Given the description of an element on the screen output the (x, y) to click on. 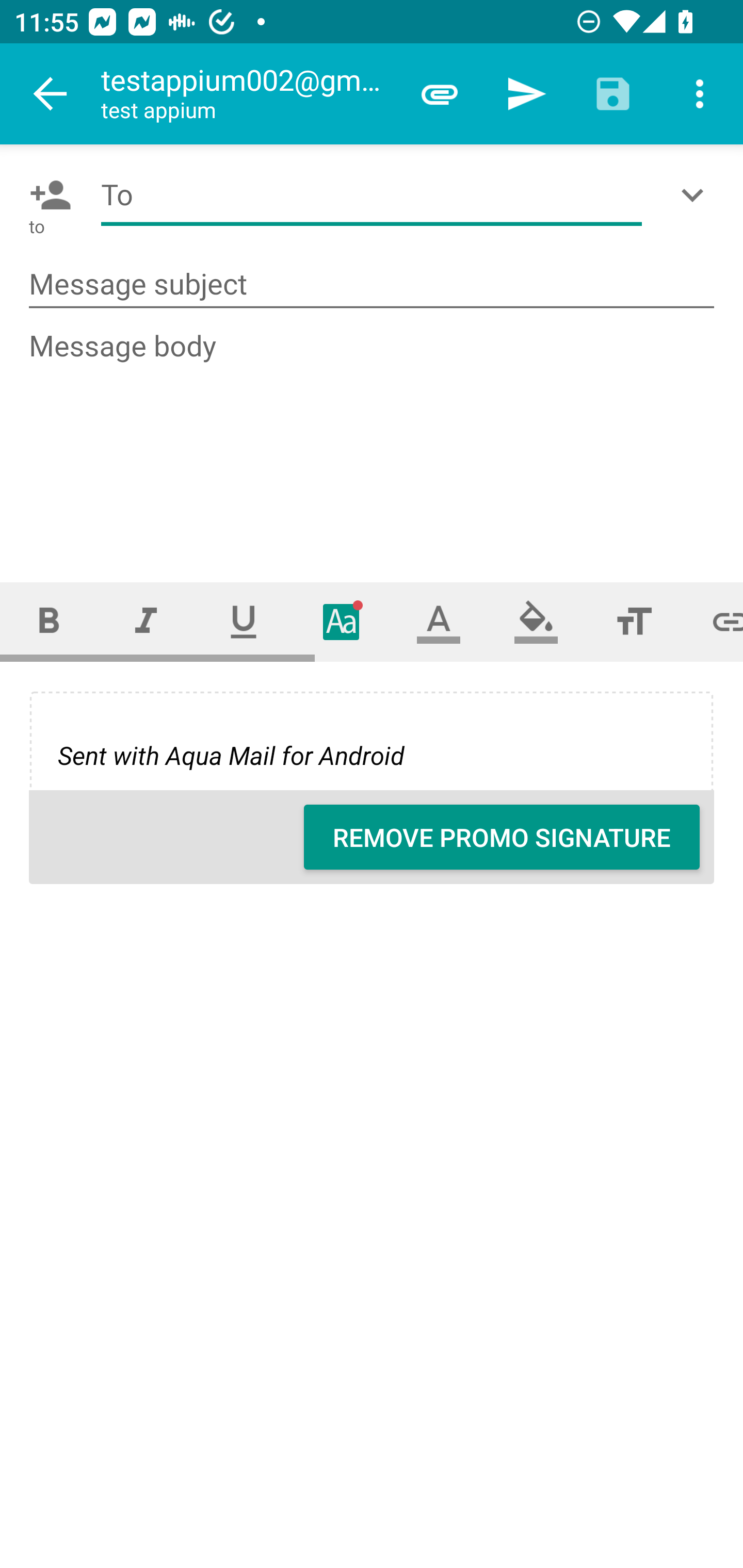
Navigate up (50, 93)
testappium002@gmail.com test appium (248, 93)
Attach (439, 93)
Send (525, 93)
Save (612, 93)
More options (699, 93)
Pick contact: To (46, 195)
Show/Add CC/BCC (696, 195)
To (371, 195)
Message subject (371, 284)
Message body (372, 438)
Bold (48, 621)
Italic (145, 621)
Underline (243, 621)
Typeface (font) (341, 621)
Text color (438, 621)
Fill color (536, 621)
Font size (633, 621)
Set link (712, 621)
REMOVE PROMO SIGNATURE (501, 837)
